Given the description of an element on the screen output the (x, y) to click on. 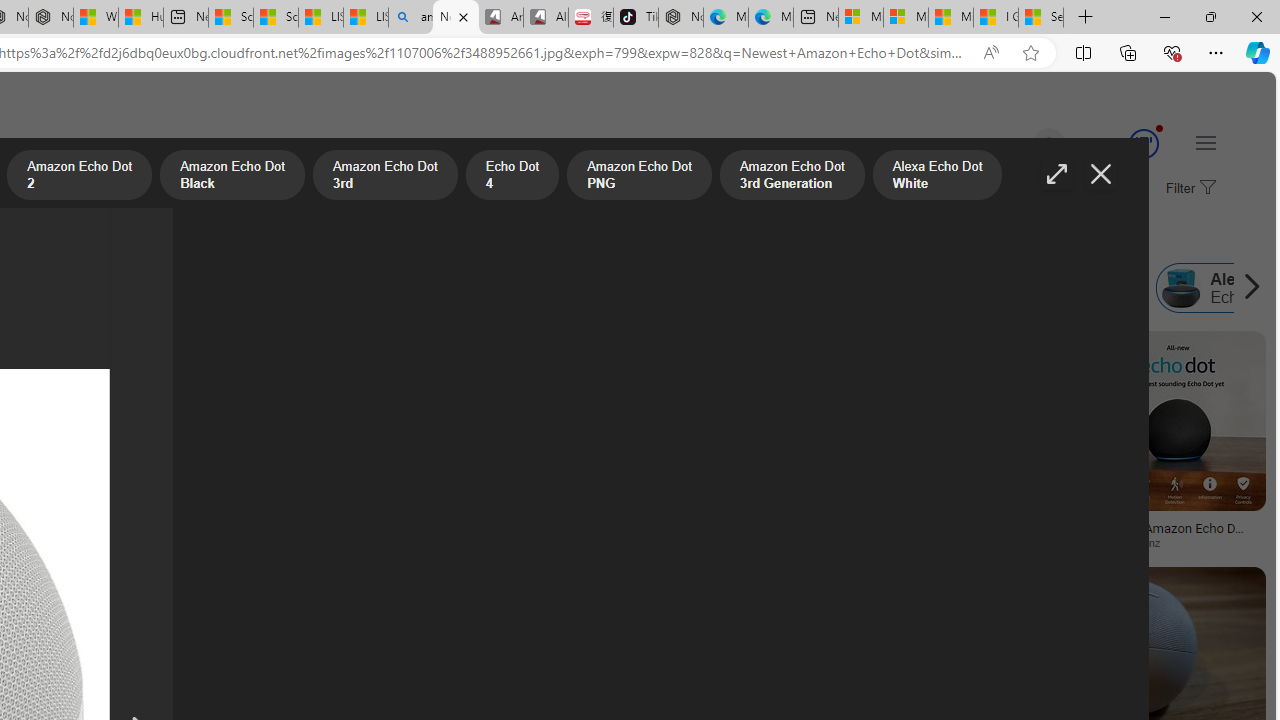
Filter (1188, 189)
TikTok (635, 17)
Amazon Echo Dot 3rd Generation (398, 287)
B&H Photo Video (446, 541)
